Given the description of an element on the screen output the (x, y) to click on. 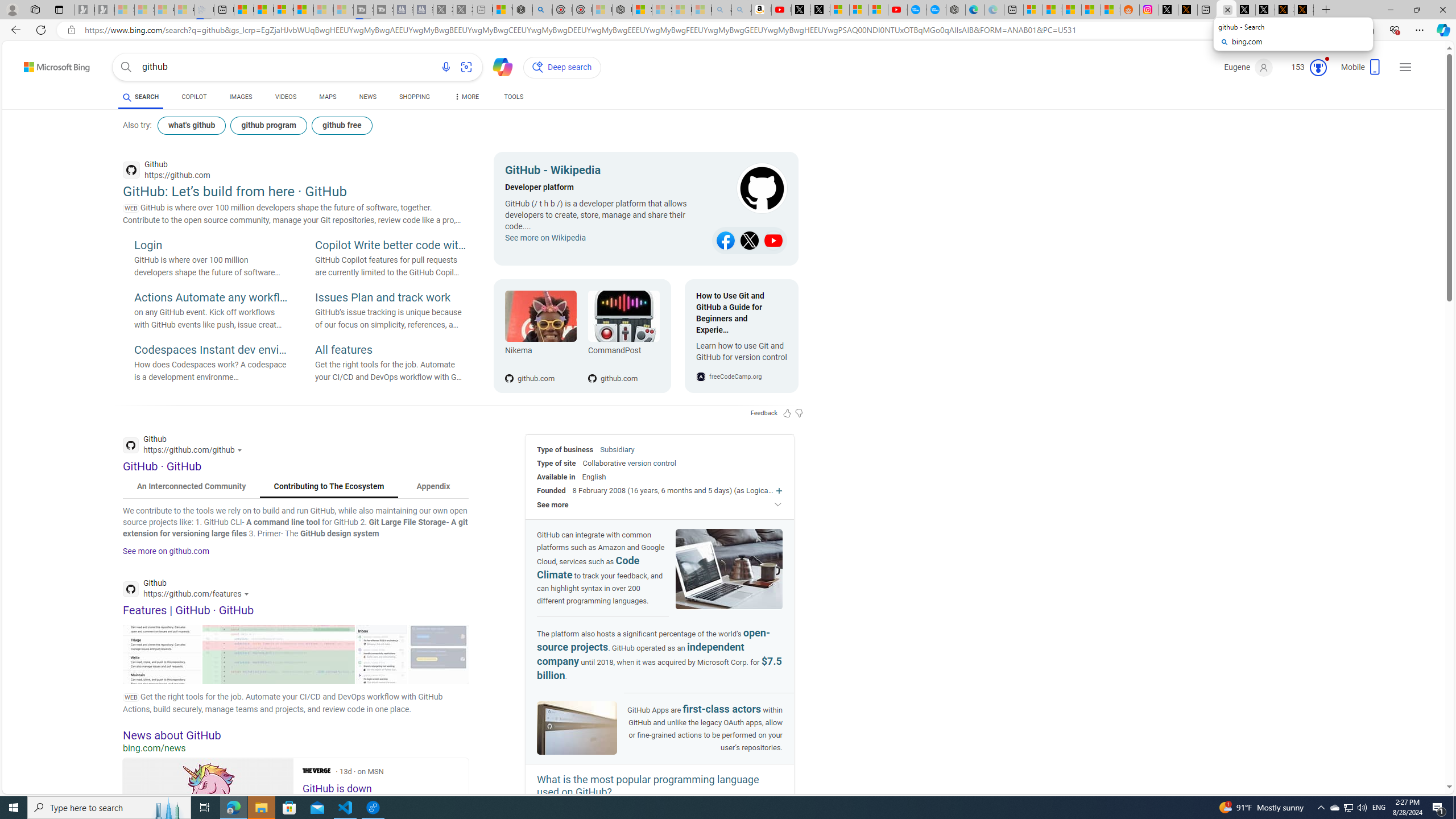
Type of business (565, 449)
Microsoft Rewards 153 (1304, 67)
CommandPost (623, 352)
Founded (551, 490)
Streaming Coverage | T3 - Sleeping (362, 9)
The most popular Google 'how to' searches (935, 9)
github.com (623, 359)
github free (341, 125)
Search using an image (465, 66)
